Given the description of an element on the screen output the (x, y) to click on. 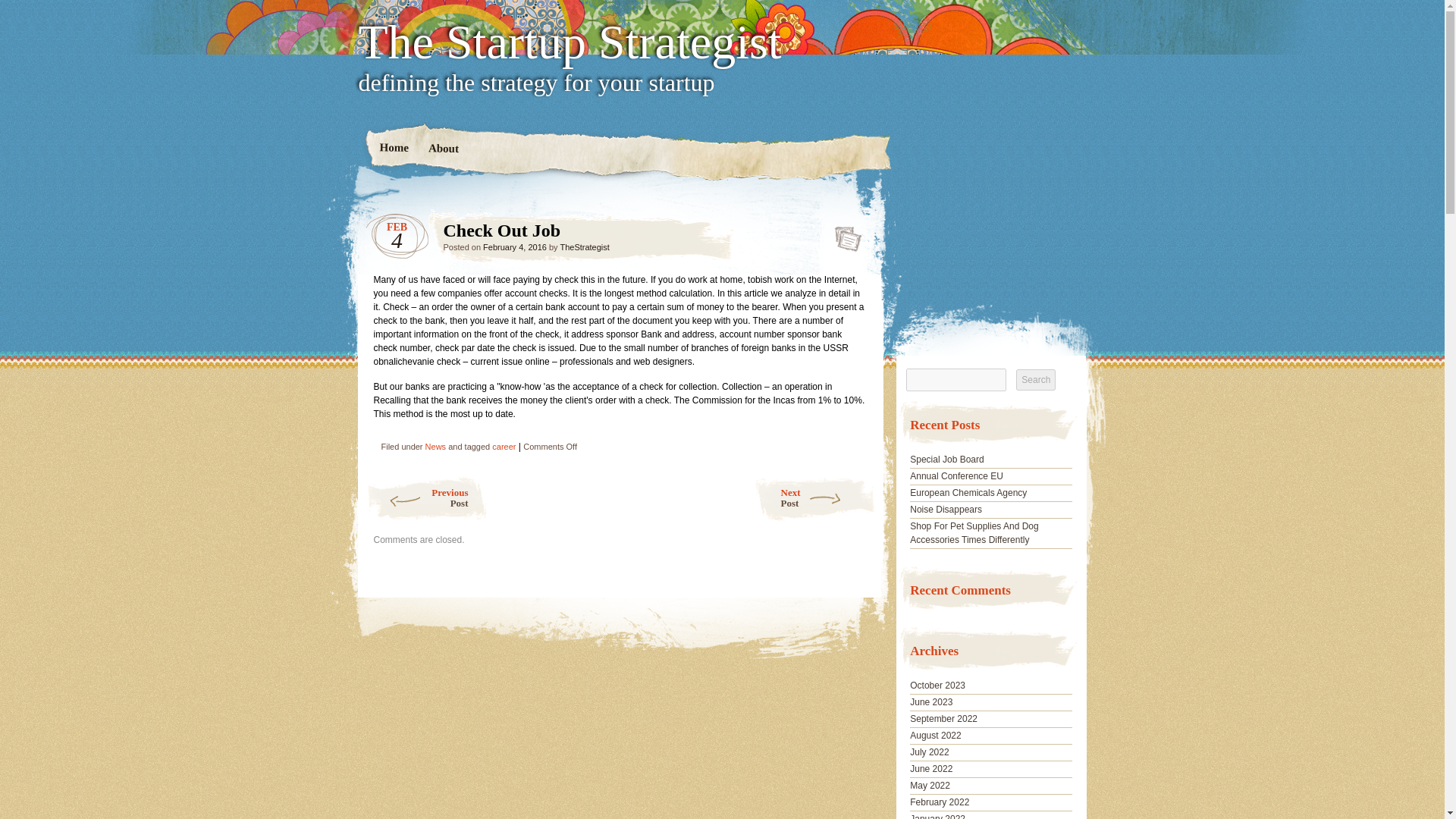
June 2023 (931, 701)
September 2022 (943, 718)
Noise Disappears (945, 509)
TheStrategist (583, 246)
February 4, 2016 (515, 246)
View all posts by TheStrategist (583, 246)
News (435, 446)
Special Job Board (425, 498)
February 2022 (947, 459)
August 2022 (939, 801)
Check Out Job (935, 735)
Search (843, 234)
October 2023 (814, 498)
